Given the description of an element on the screen output the (x, y) to click on. 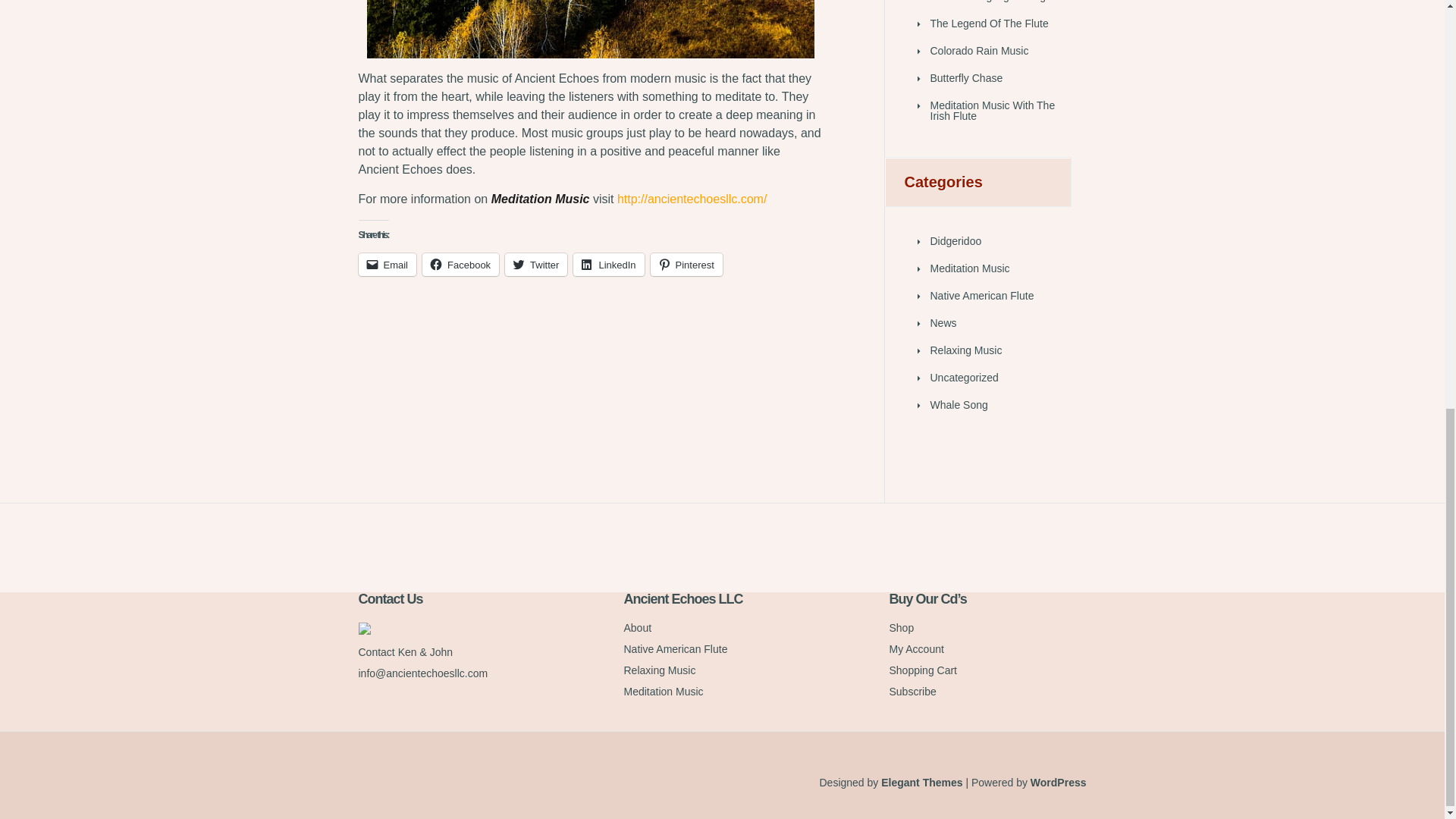
Uncategorized (963, 377)
Didgeridoo (955, 241)
Native American Flute (981, 295)
Twitter (536, 264)
Facebook (460, 264)
Click to share on Pinterest (686, 264)
The Legend Of The Flute (989, 23)
Butterfly Chase (966, 78)
Colorado Rain Music (978, 50)
Premium WordPress Themes (921, 782)
